Given the description of an element on the screen output the (x, y) to click on. 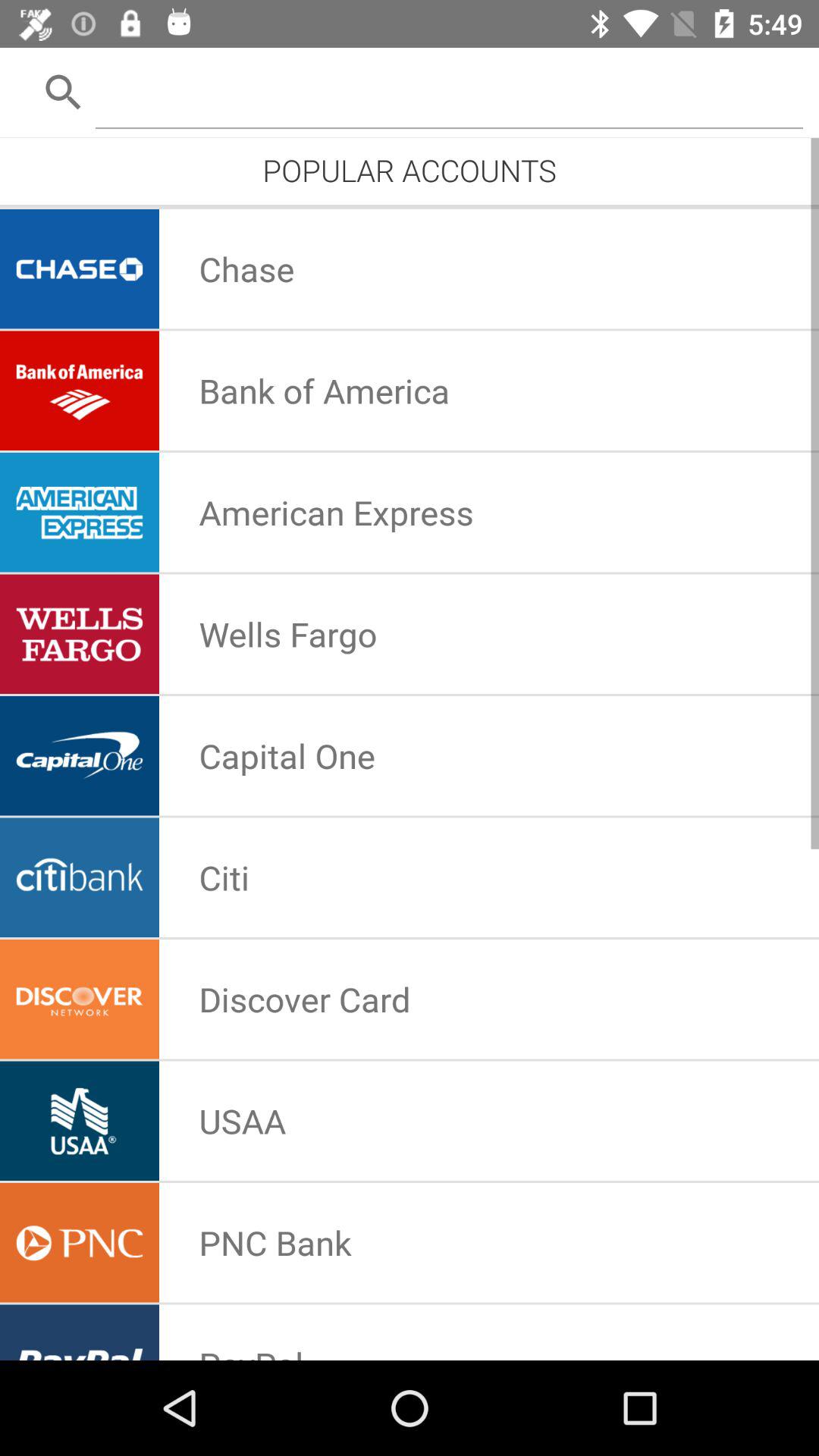
search bar (449, 91)
